Given the description of an element on the screen output the (x, y) to click on. 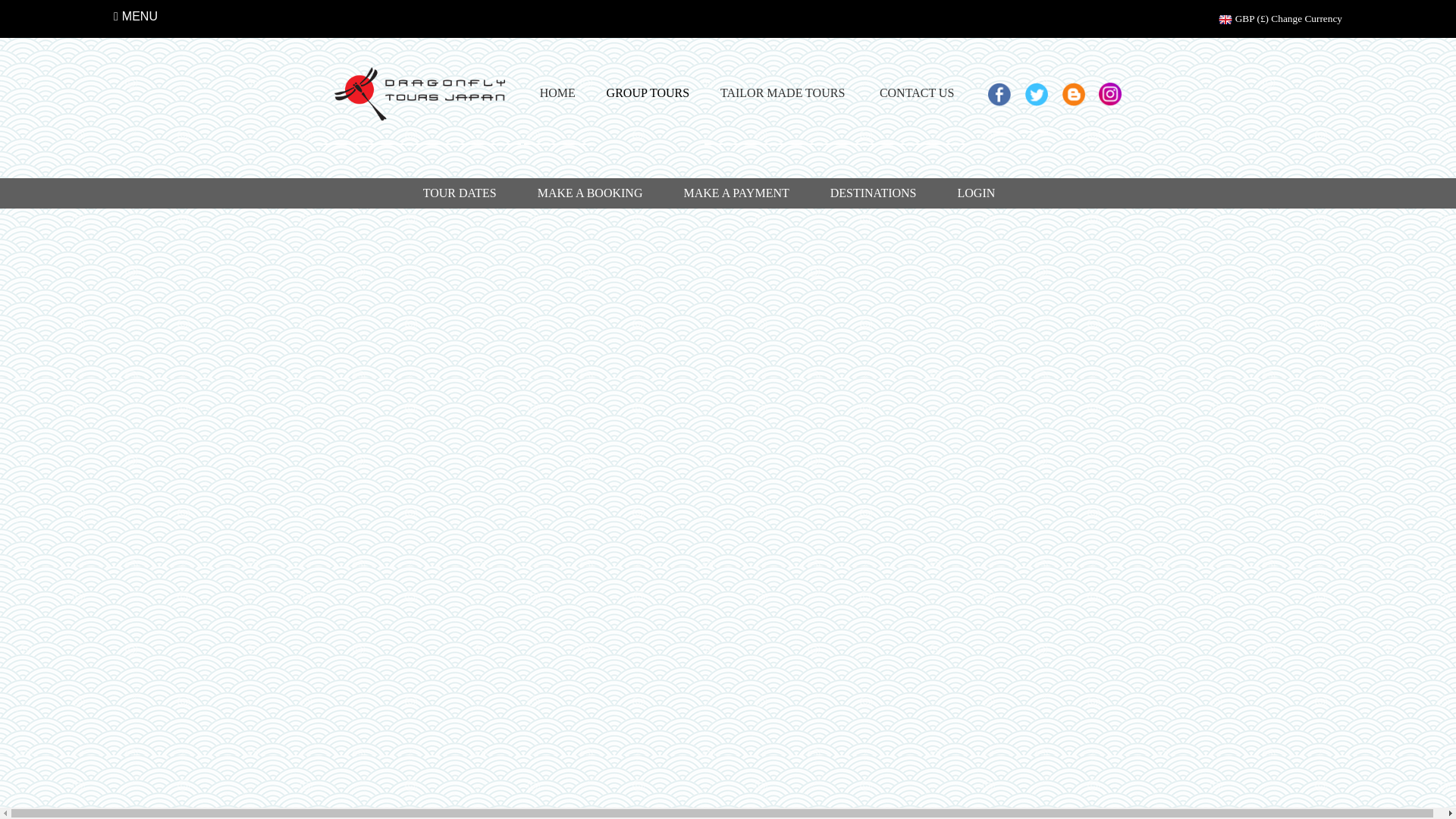
DESTINATIONS (873, 192)
TOUR DATES (459, 192)
MENU (135, 16)
CONTACT US (916, 93)
MAKE A PAYMENT (735, 192)
LOGIN (976, 192)
TAILOR MADE TOURS (782, 93)
GROUP TOURS (647, 93)
MAKE A BOOKING (590, 192)
dragonfly tours japan (419, 93)
